Given the description of an element on the screen output the (x, y) to click on. 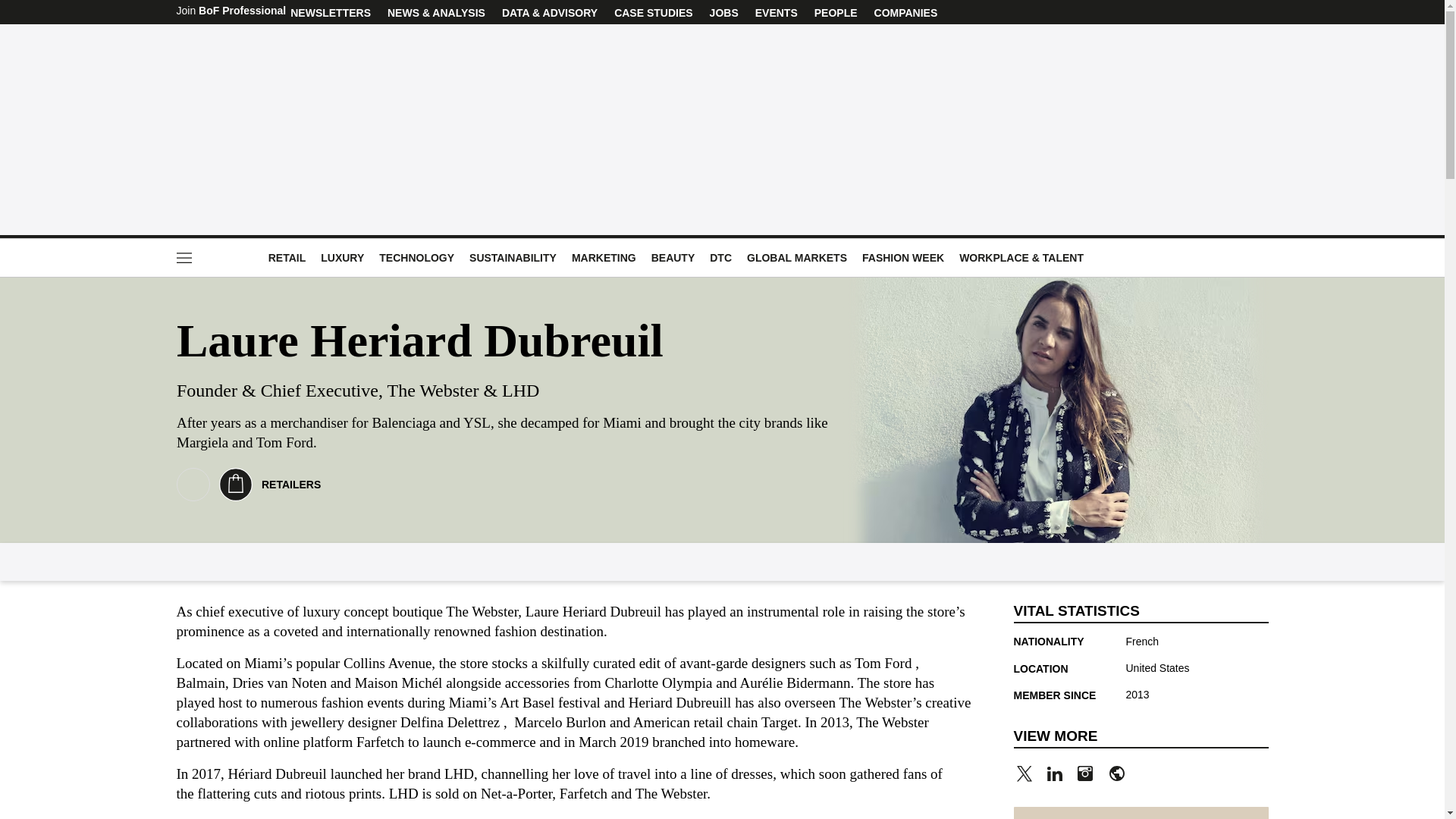
NEWSLETTERS (330, 12)
PEOPLE (836, 12)
Join BoF Professional (230, 12)
COMPANIES (906, 12)
CASE STUDIES (652, 12)
JOBS (724, 12)
EVENTS (775, 12)
